Given the description of an element on the screen output the (x, y) to click on. 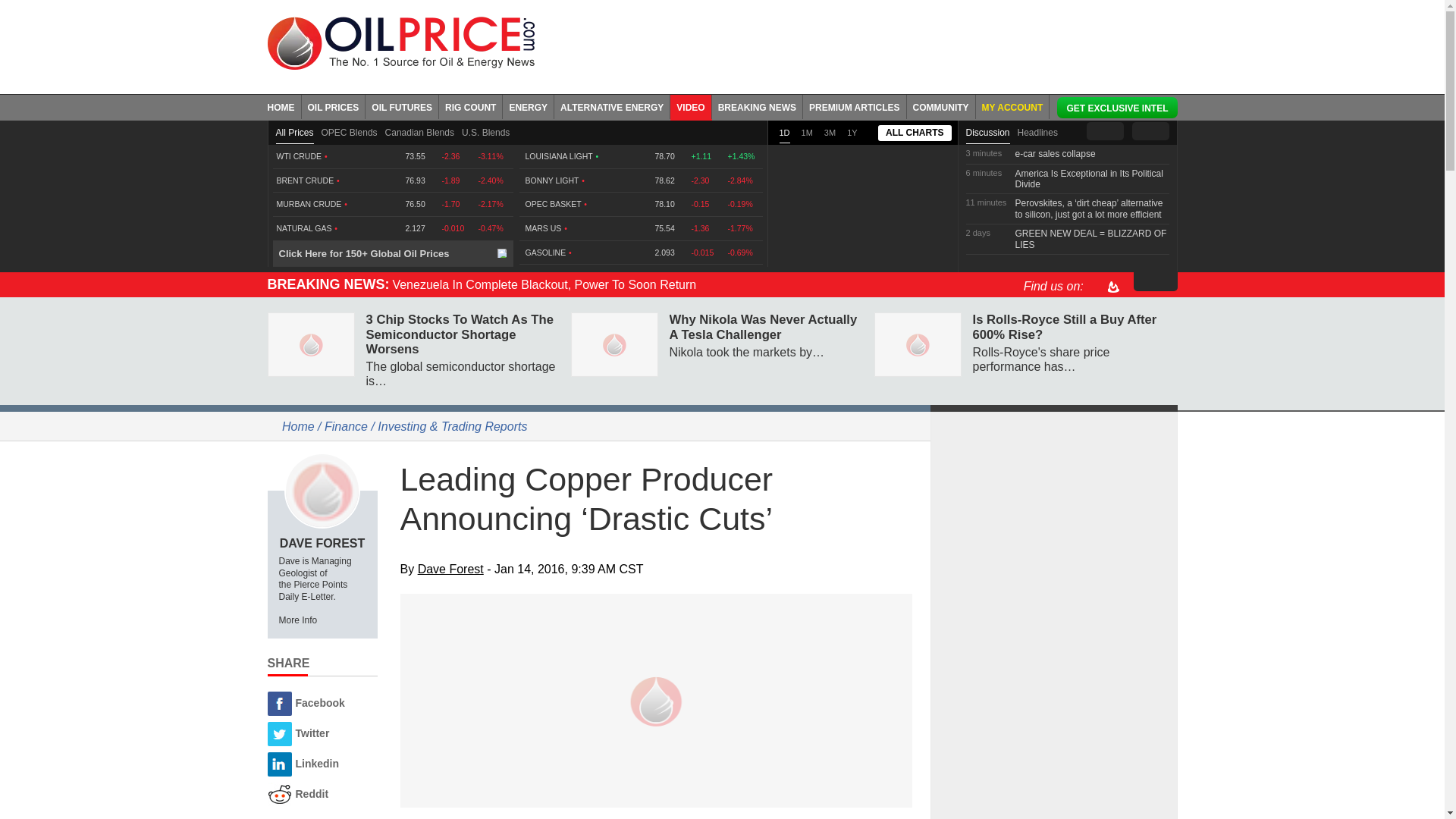
Dave Forest (321, 490)
RIG COUNT (470, 106)
OIL FUTURES (402, 106)
Oil prices - Oilprice.com (400, 42)
COMMUNITY (941, 106)
PREMIUM ARTICLES (855, 106)
OIL PRICES (333, 106)
MY ACCOUNT (1012, 106)
ALTERNATIVE ENERGY (611, 106)
VIDEO (690, 106)
